Given the description of an element on the screen output the (x, y) to click on. 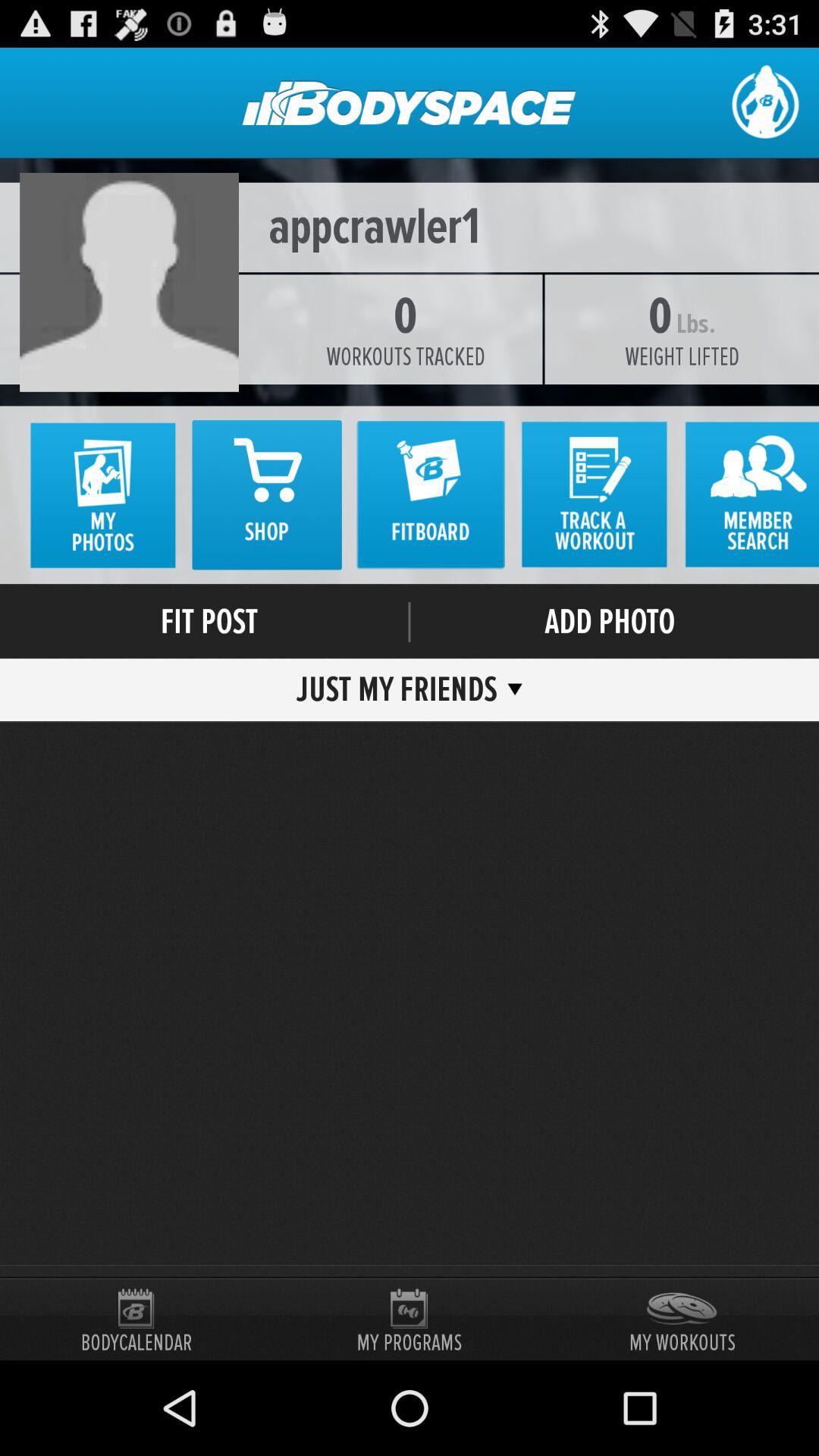
jump to the lbs. icon (695, 323)
